Given the description of an element on the screen output the (x, y) to click on. 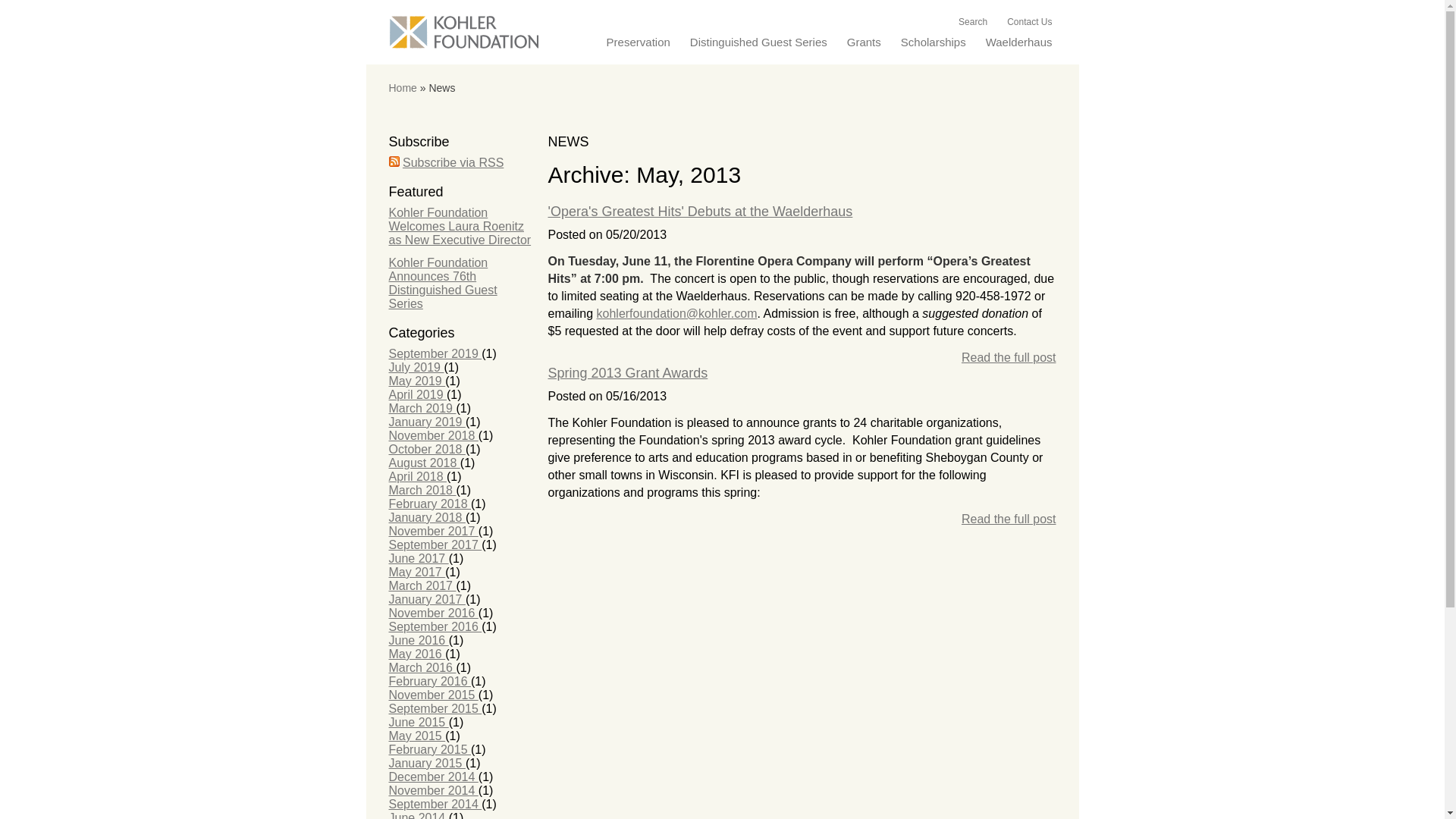
Search (972, 16)
Read the full post (1008, 357)
View full post titled - 'Spring 2013 Grant Awards' (627, 372)
Subscribe via RSS (453, 162)
February 2018 (429, 503)
March 2017 (421, 585)
September 2019 (434, 353)
January 2019 (426, 421)
Spring 2013 Grant Awards (627, 372)
September 2016 (434, 626)
